Given the description of an element on the screen output the (x, y) to click on. 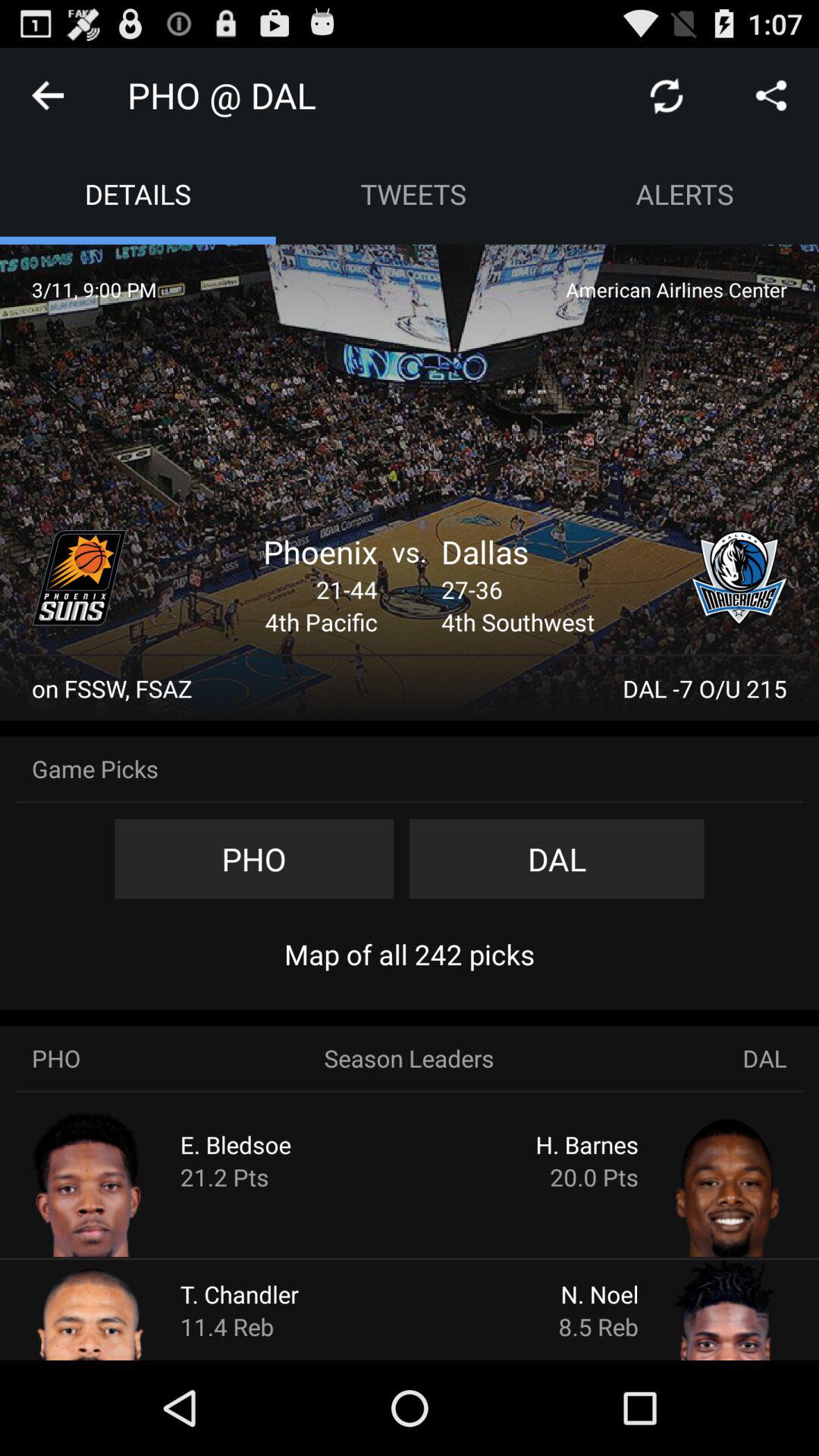
immediate access (79, 577)
